Given the description of an element on the screen output the (x, y) to click on. 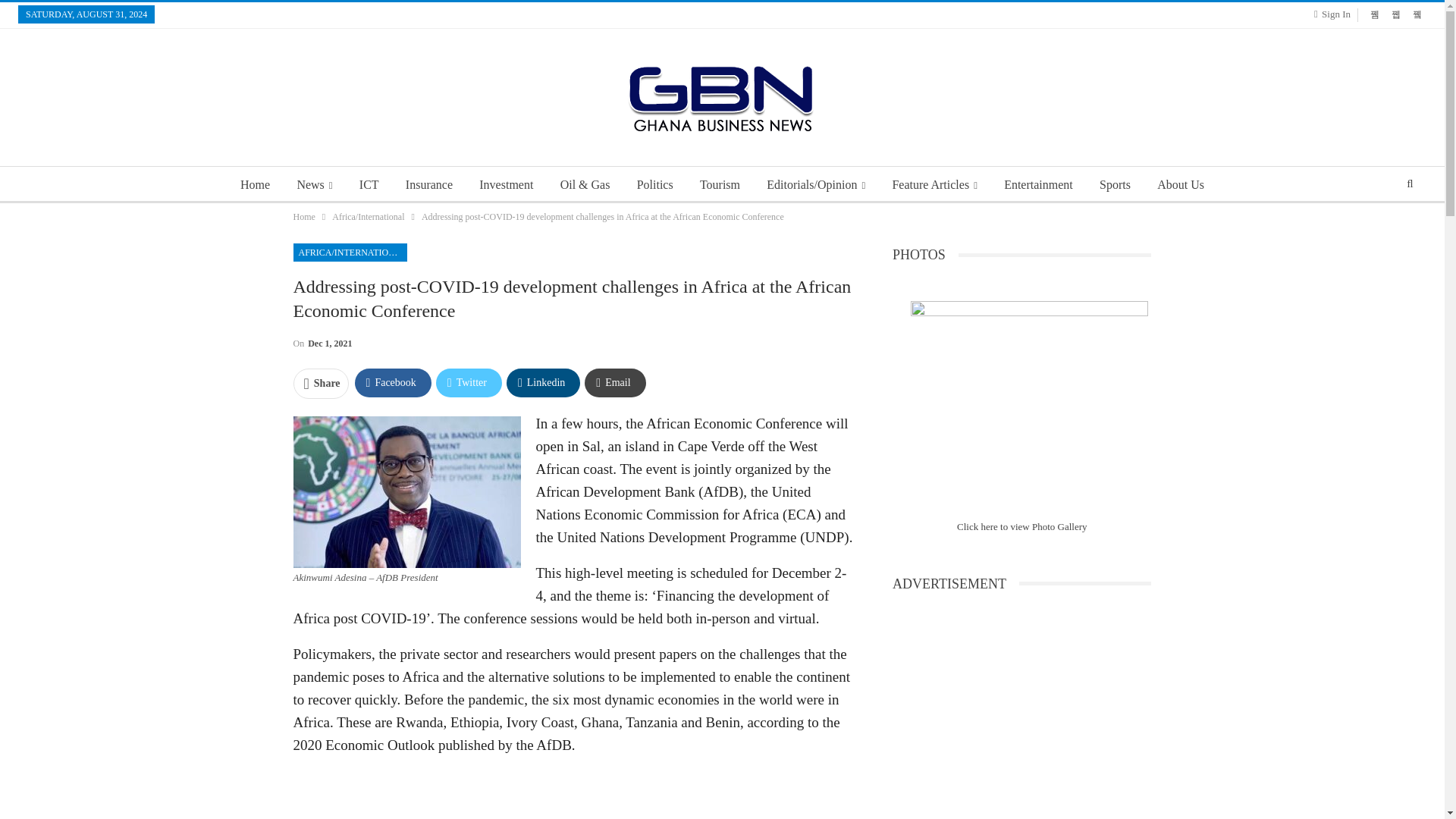
Politics (654, 185)
News (313, 185)
Home (303, 216)
ICT (369, 185)
Feature Articles (934, 185)
Home (255, 185)
Investment (505, 185)
About Us (1180, 185)
Entertainment (1037, 185)
Facebook (392, 382)
